Given the description of an element on the screen output the (x, y) to click on. 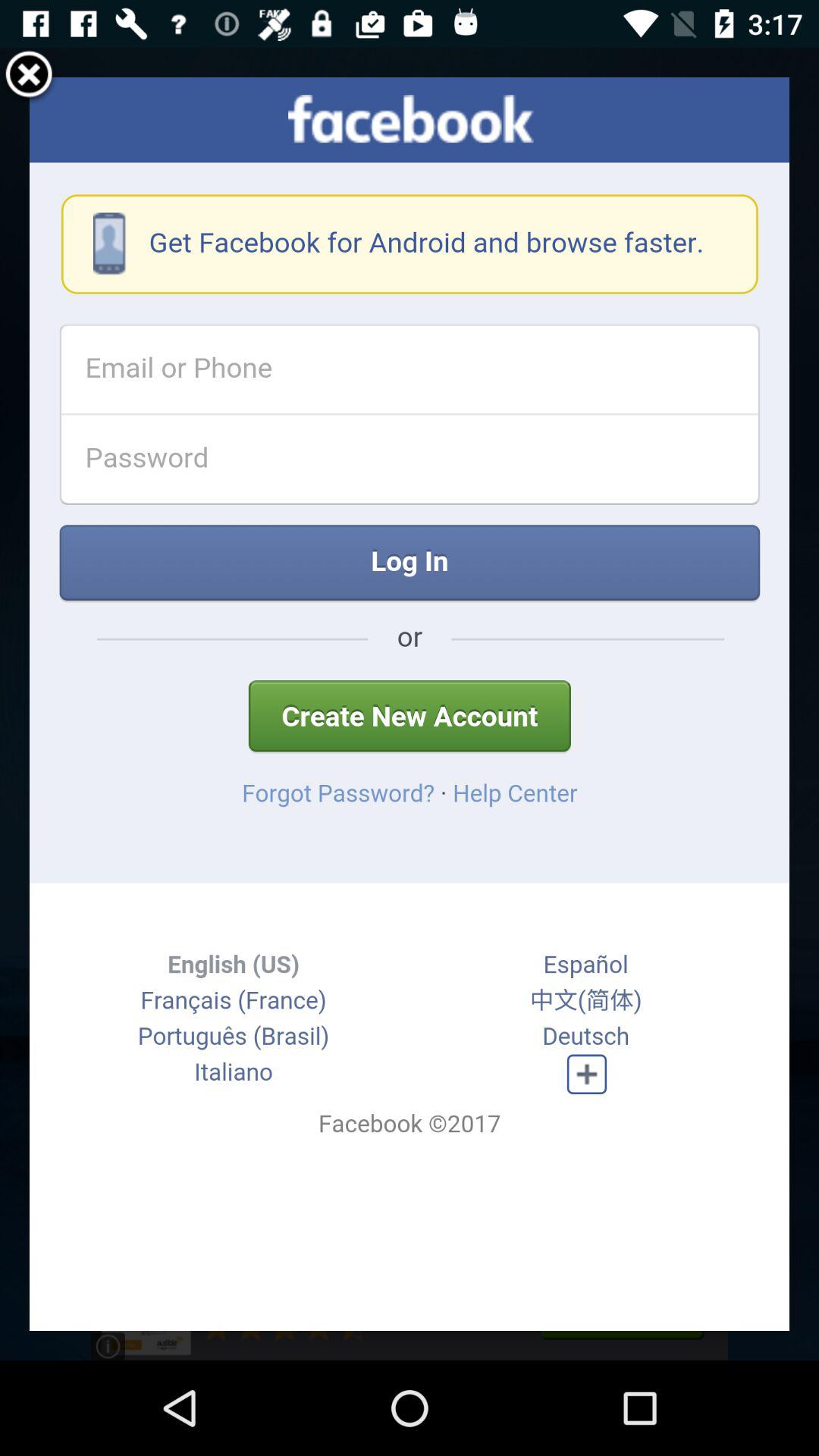
turn on the item at the center (409, 703)
